Given the description of an element on the screen output the (x, y) to click on. 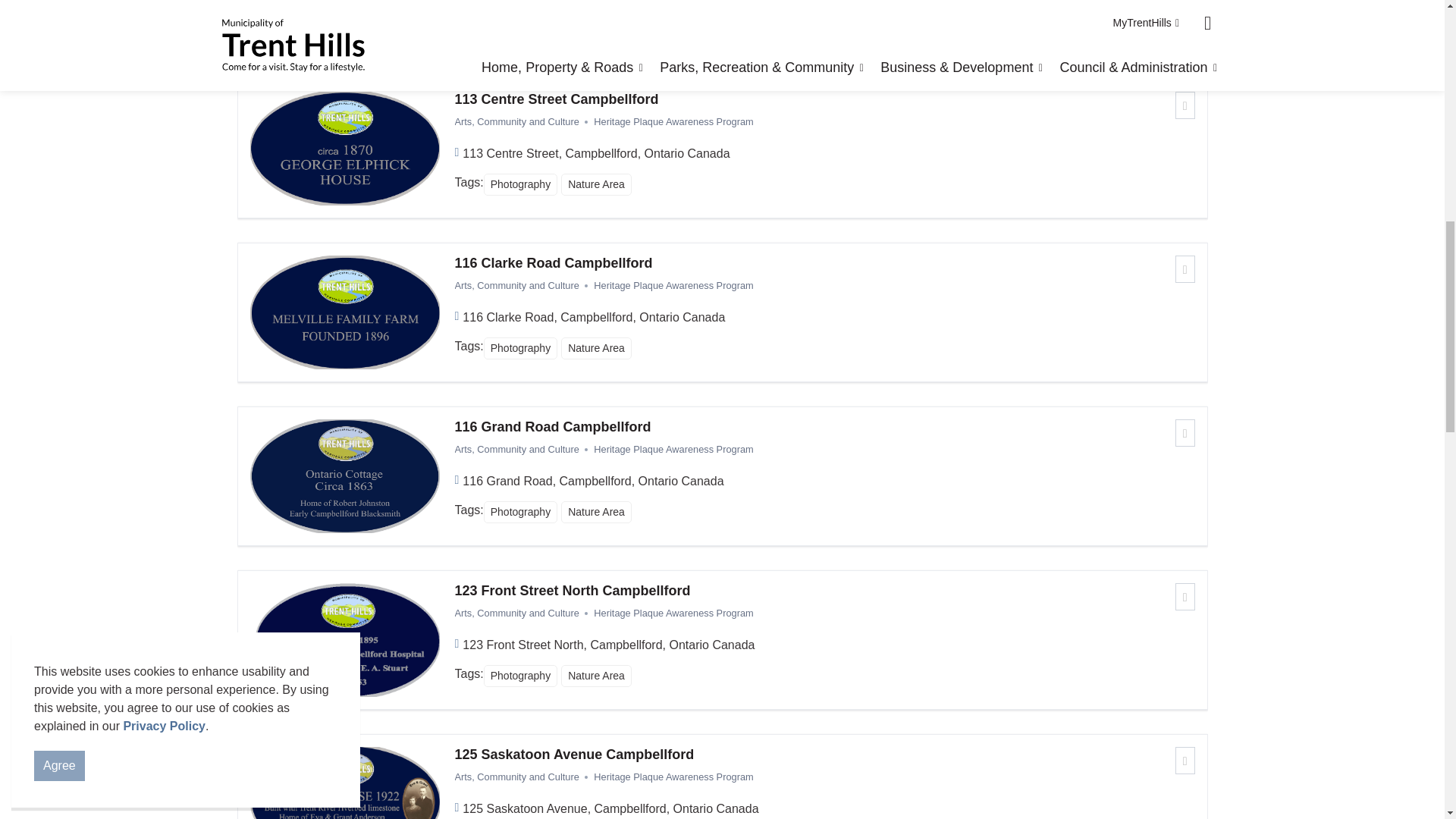
Click to open 125 Saskatoon Avenue Campbellford (824, 754)
Click to open 123 Front Street North Campbellford (824, 591)
Click to open 116 Clarke Road Campbellford (824, 263)
Click to open 113 Centre Street Campbellford (824, 99)
Click to open 116 Grand Road Campbellford (824, 427)
